Given the description of an element on the screen output the (x, y) to click on. 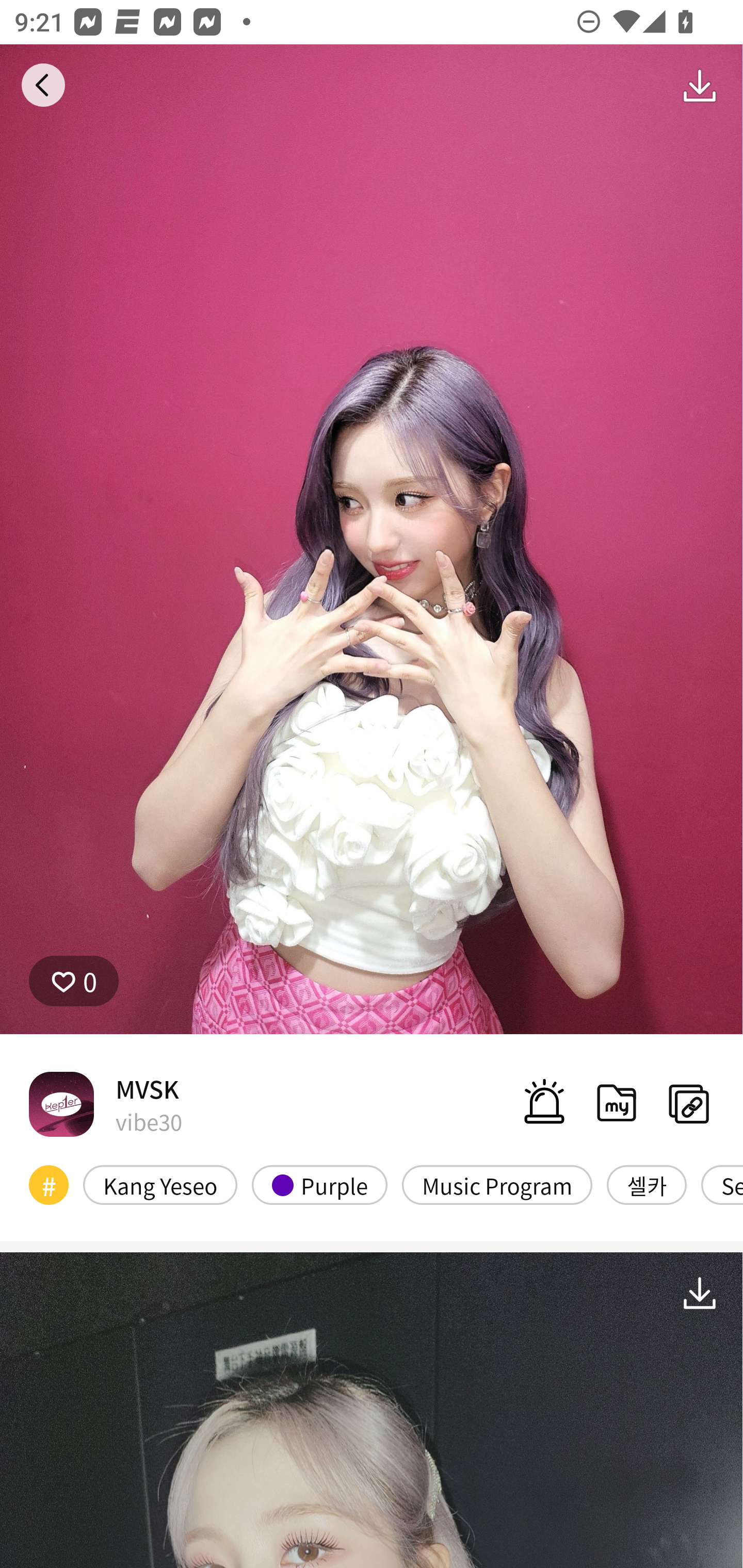
0 (73, 980)
MVSK vibe30 (105, 1103)
Kang Yeseo (160, 1184)
Purple (319, 1184)
Music Program (496, 1184)
셀카 (646, 1184)
